Given the description of an element on the screen output the (x, y) to click on. 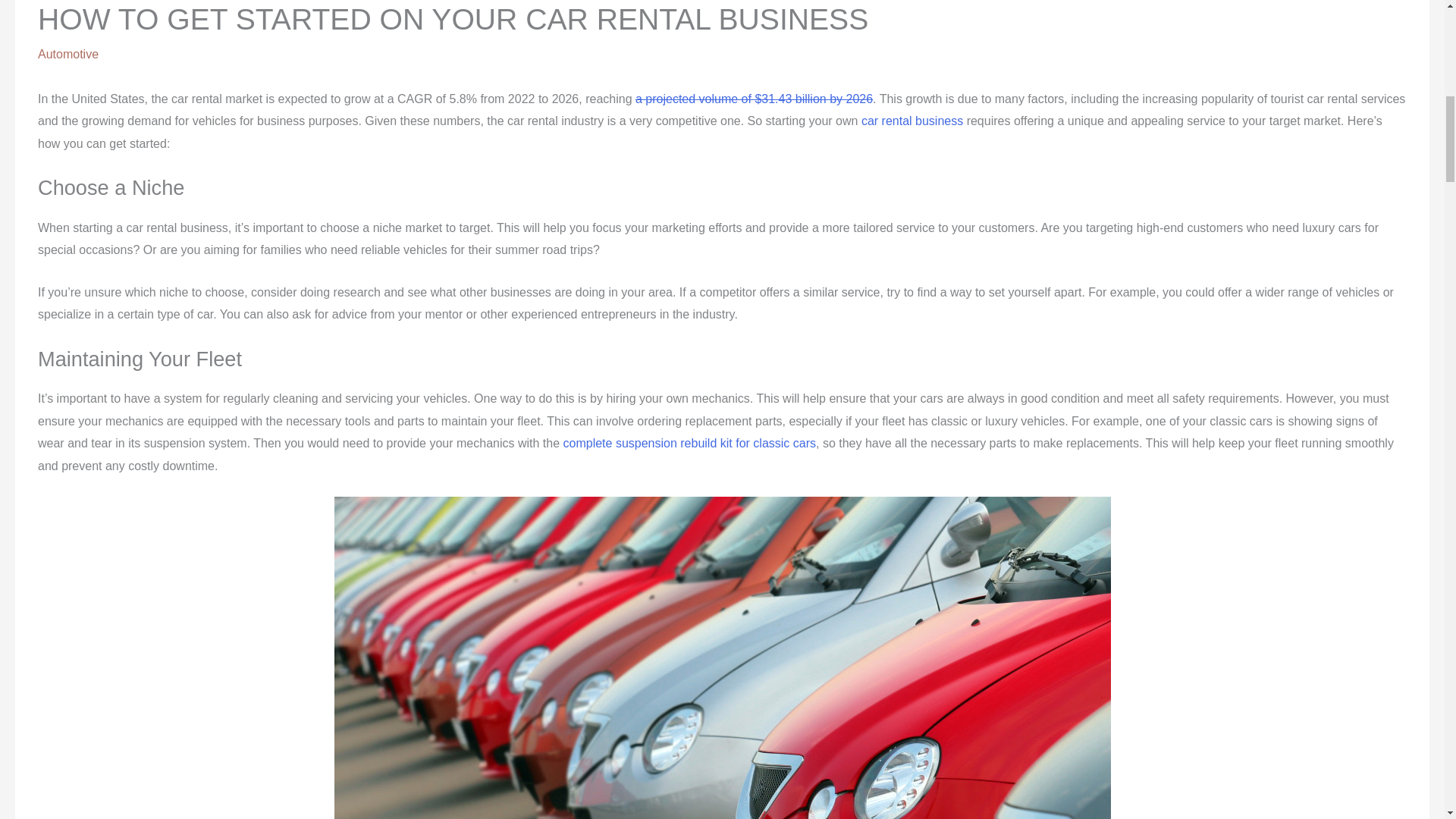
Automotive (68, 53)
car rental business (909, 120)
complete suspension rebuild kit for classic cars (689, 442)
